Given the description of an element on the screen output the (x, y) to click on. 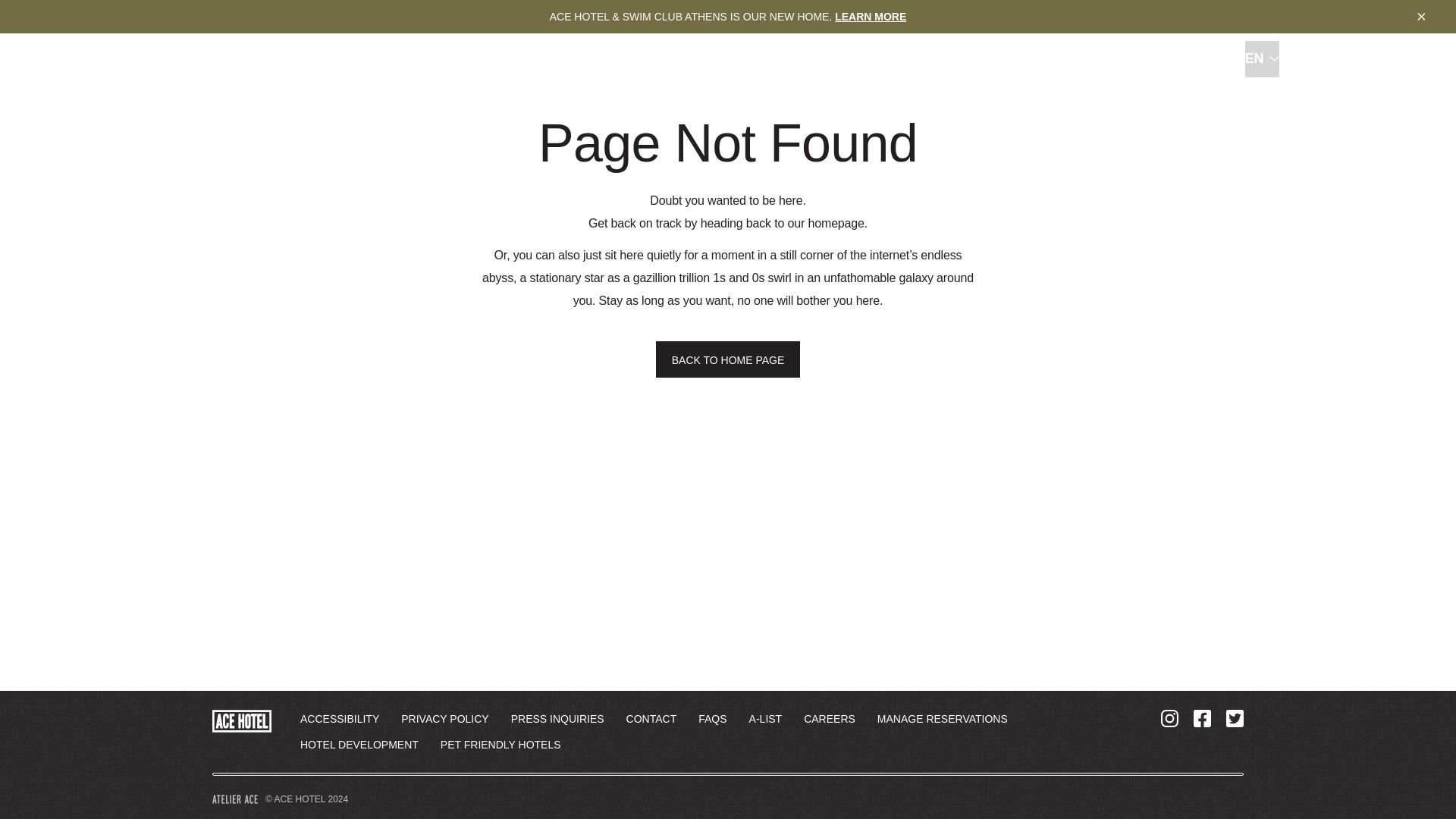
Go to homepage (69, 60)
Planet Earth (772, 60)
Go Back To Corporate Homepage (69, 60)
Noma Kyoto (972, 60)
Offers (1358, 60)
Ace Reader (509, 60)
Artist In Residence (693, 60)
Goings On (872, 60)
LEARN MORE (569, 60)
Close Cookie Disclosure (869, 16)
A-List (464, 60)
Go to homepage (1421, 16)
Locations (630, 60)
